Given the description of an element on the screen output the (x, y) to click on. 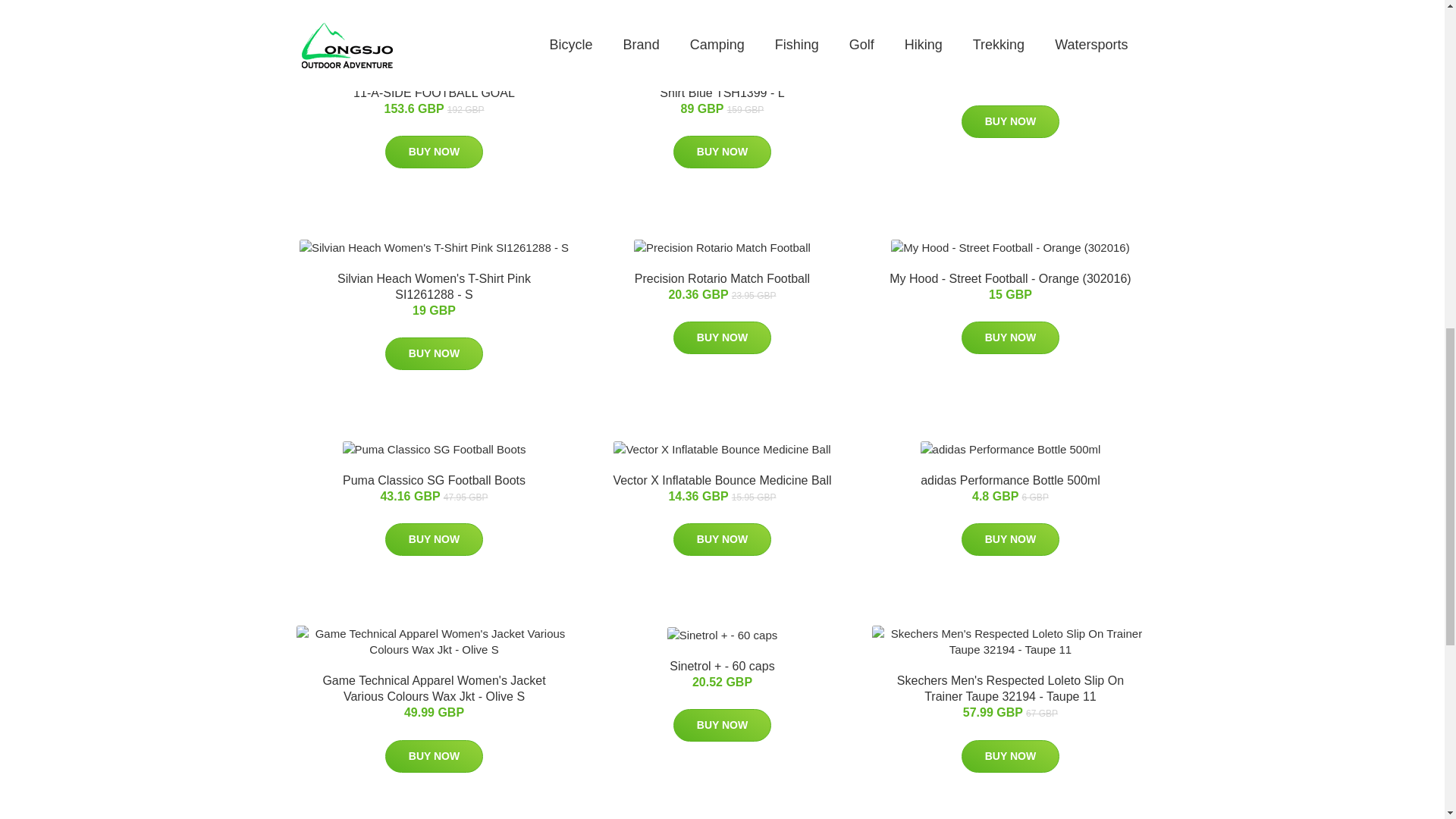
BUY NOW (721, 151)
BUY NOW (434, 539)
BUY NOW (1009, 337)
England Rugby Core Rolldown Beanie (1010, 61)
Vector X Inflatable Bounce Medicine Ball (721, 480)
Puma Classico SG Football Boots (433, 480)
Precision Rotario Match Football (721, 278)
BUY NOW (721, 539)
BUY NOW (721, 337)
Silvian Heach Women's T-Shirt Pink SI1261288 - S (434, 286)
